Given the description of an element on the screen output the (x, y) to click on. 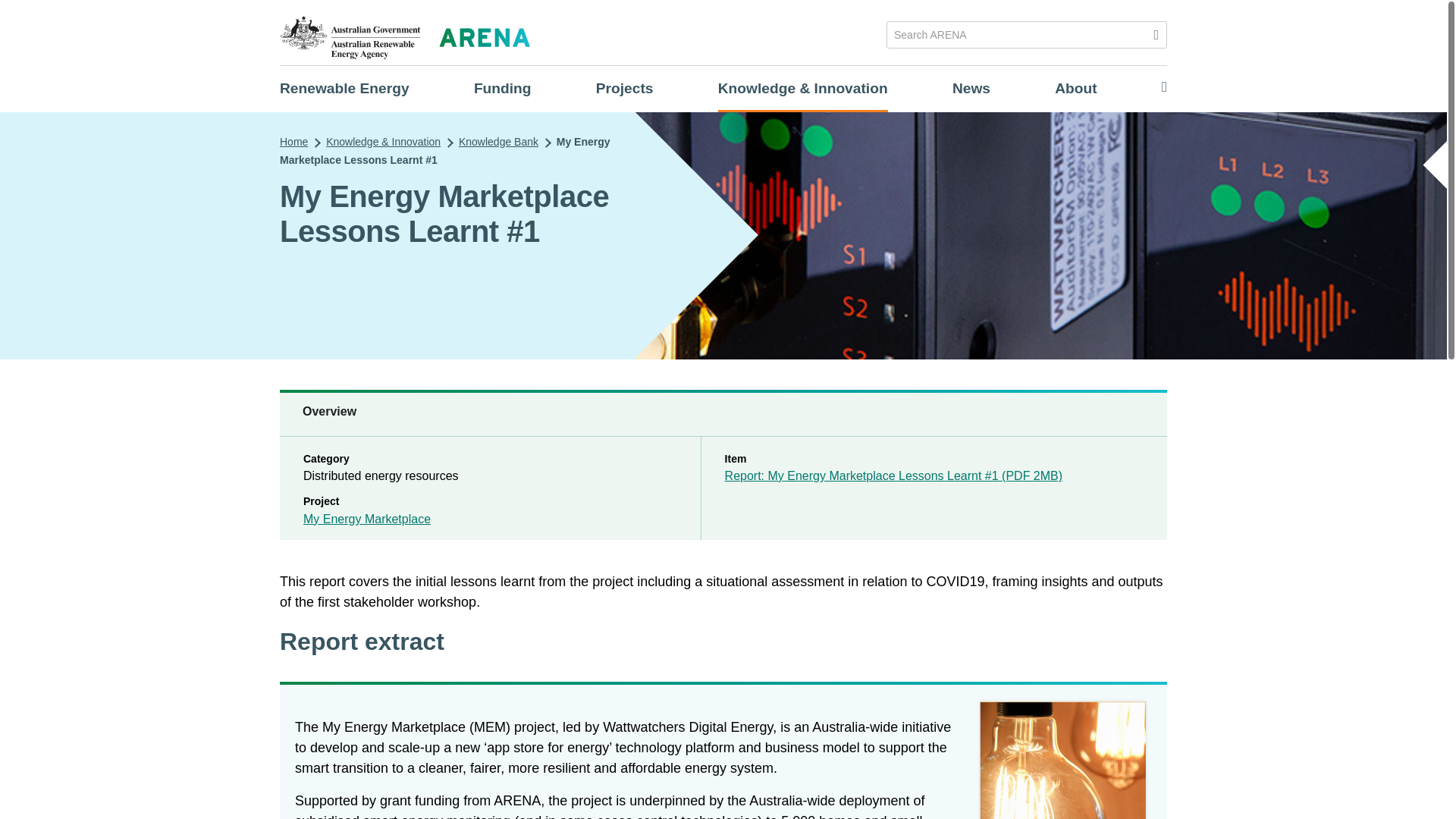
Renewable Energy (344, 88)
News (971, 88)
What is renewable energy (344, 88)
Projects (624, 88)
Funding (502, 88)
About (1075, 88)
